Given the description of an element on the screen output the (x, y) to click on. 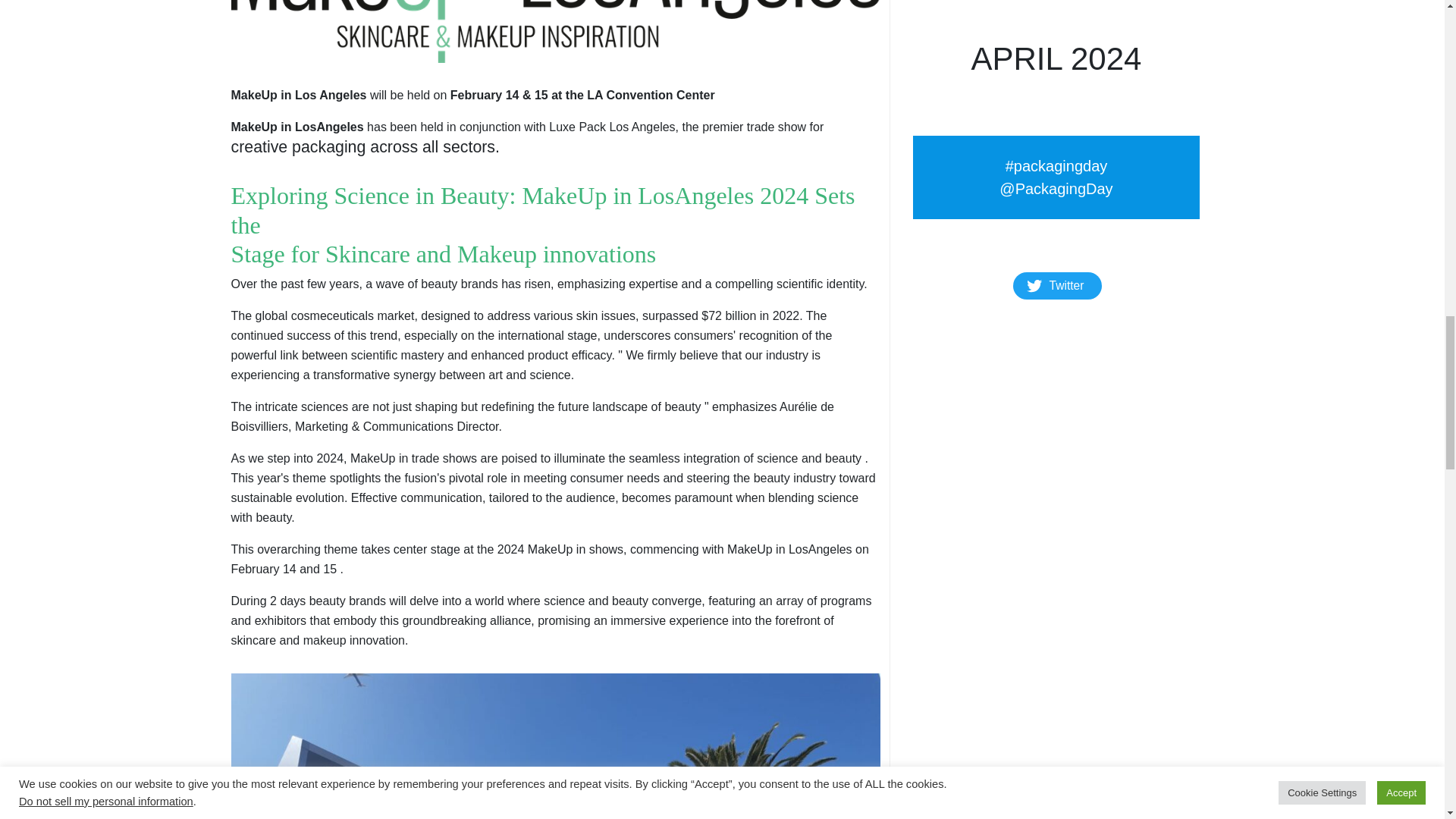
maukepla (554, 746)
